Given the description of an element on the screen output the (x, y) to click on. 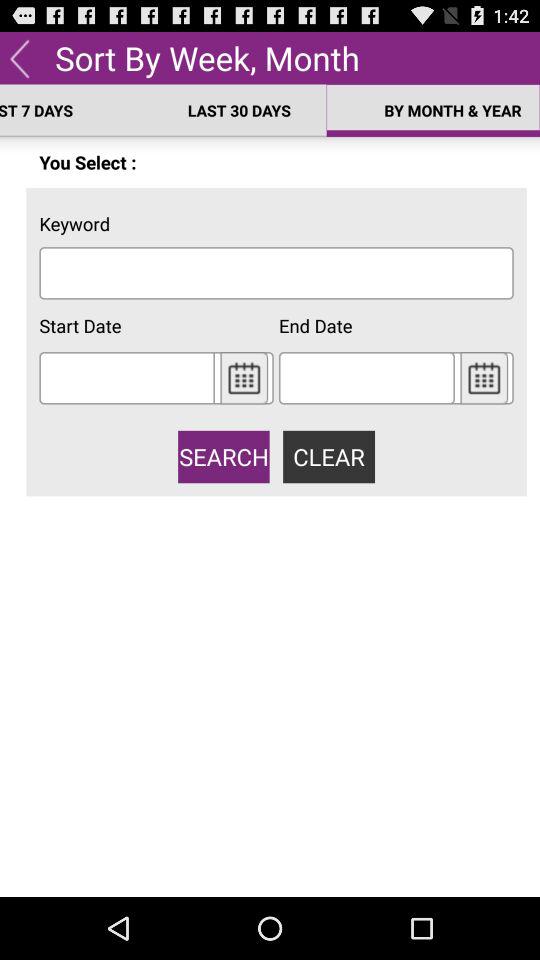
add start date (126, 377)
